Given the description of an element on the screen output the (x, y) to click on. 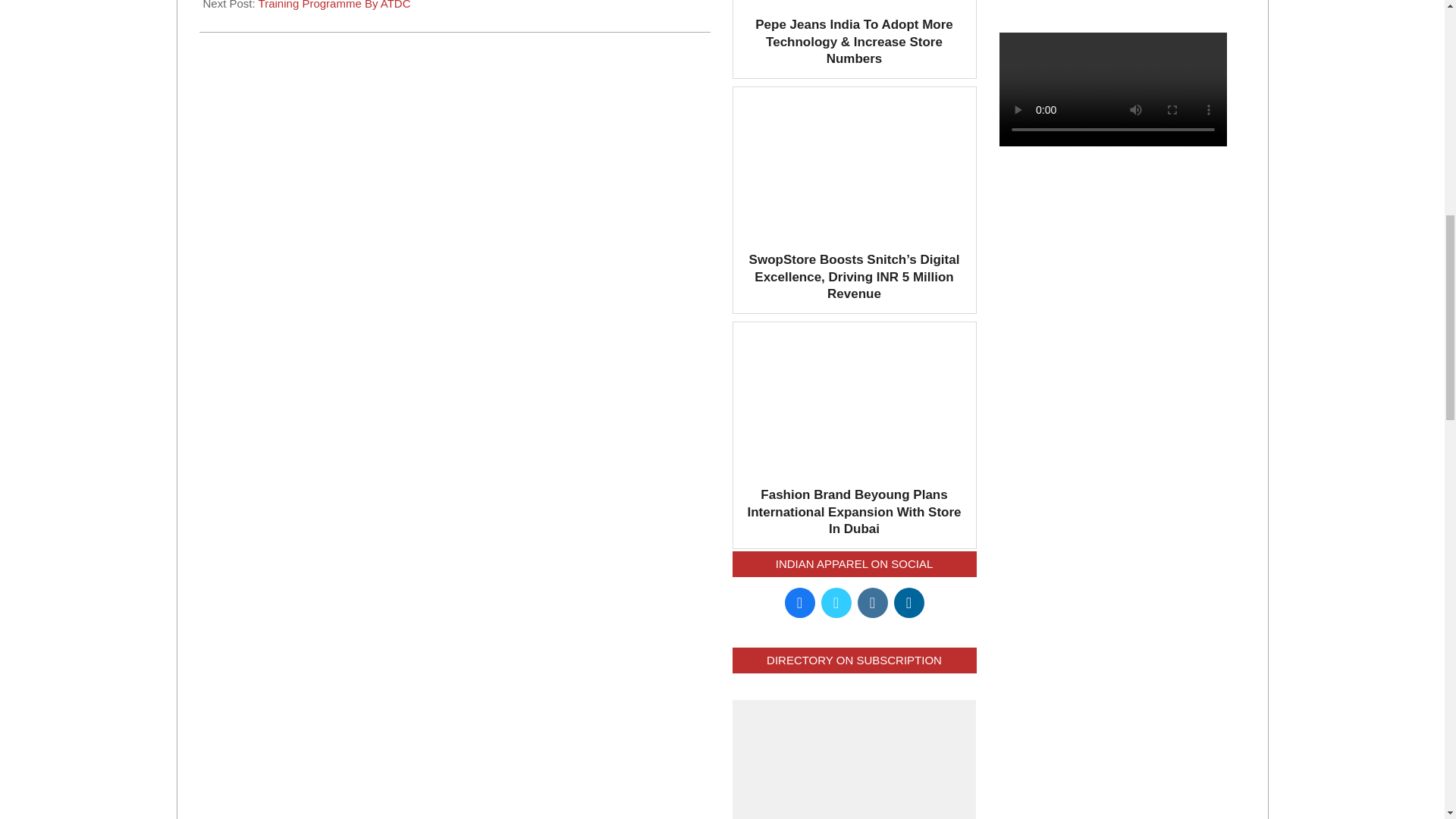
Training Programme By ATDC (334, 4)
